Given the description of an element on the screen output the (x, y) to click on. 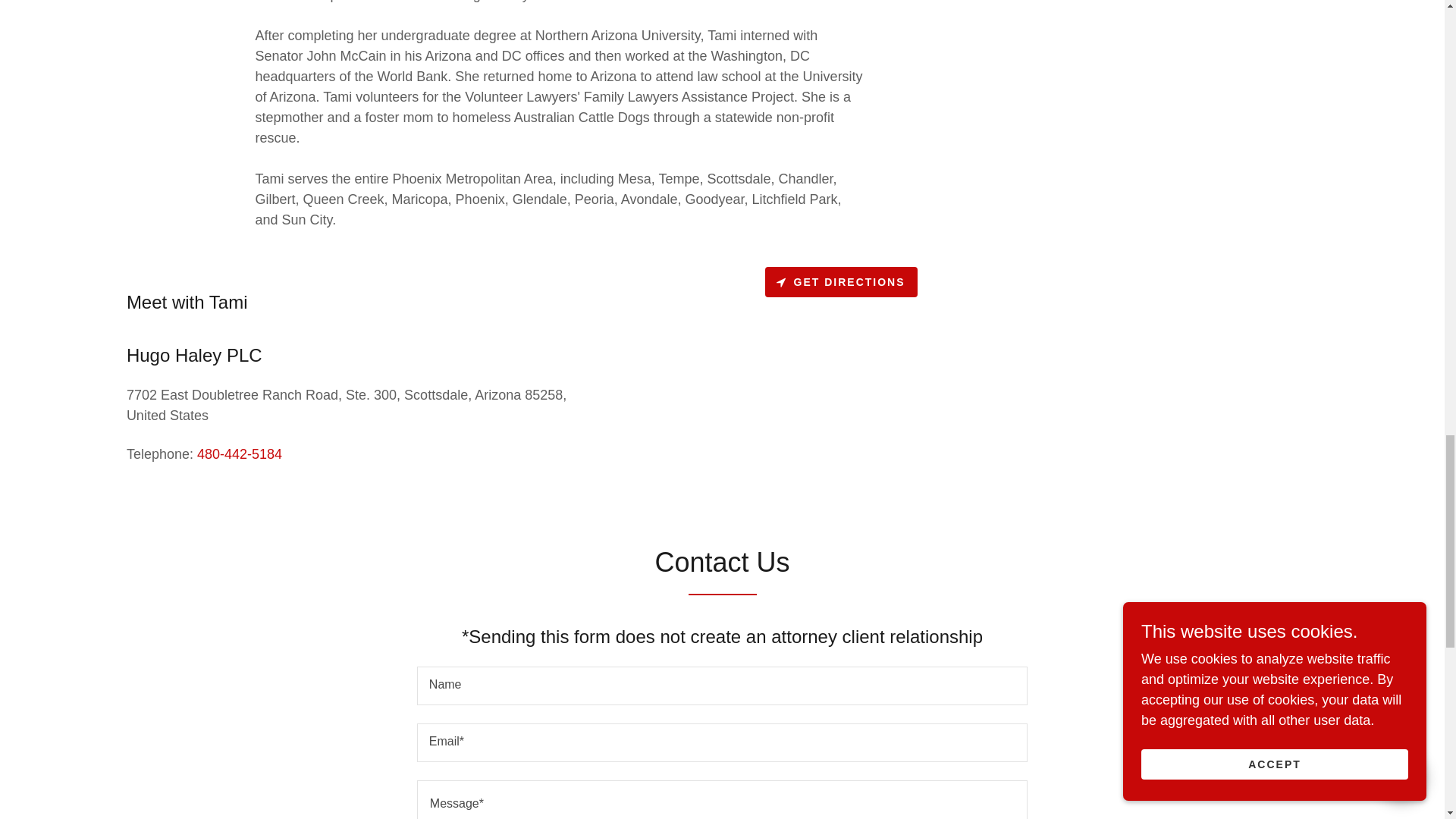
GET DIRECTIONS (840, 281)
480-442-5184 (239, 453)
